Given the description of an element on the screen output the (x, y) to click on. 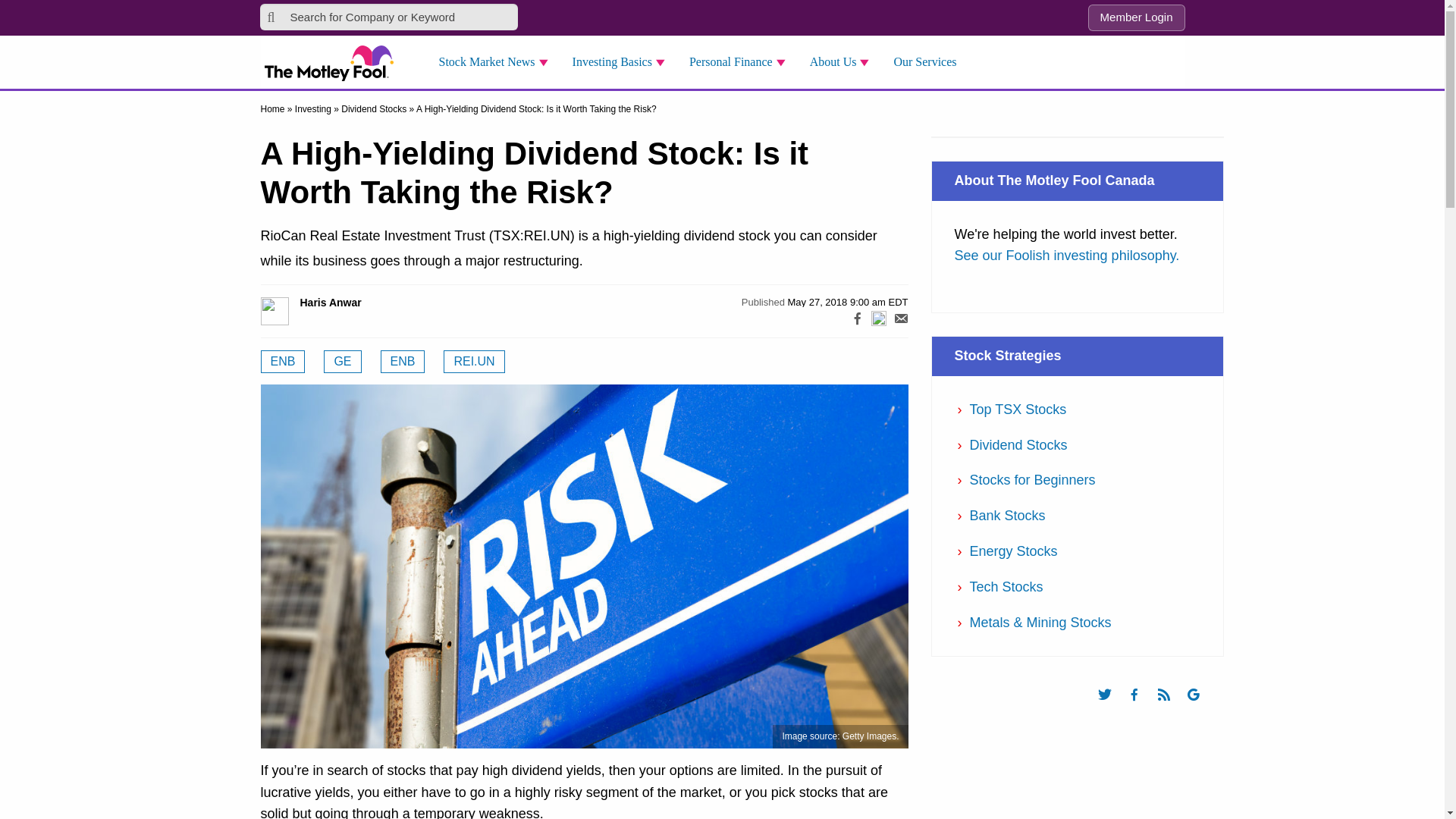
Investing Basics (623, 62)
Member Login (1136, 17)
See more articles about REI.UN (473, 361)
Like us on Facebook (1141, 707)
Follow us on Twitter (1111, 707)
See more articles about GE (342, 361)
Stock Market News (497, 62)
Subscribe to our feed (1171, 707)
See more articles about ENB (282, 361)
See more articles about ENB (402, 361)
